Given the description of an element on the screen output the (x, y) to click on. 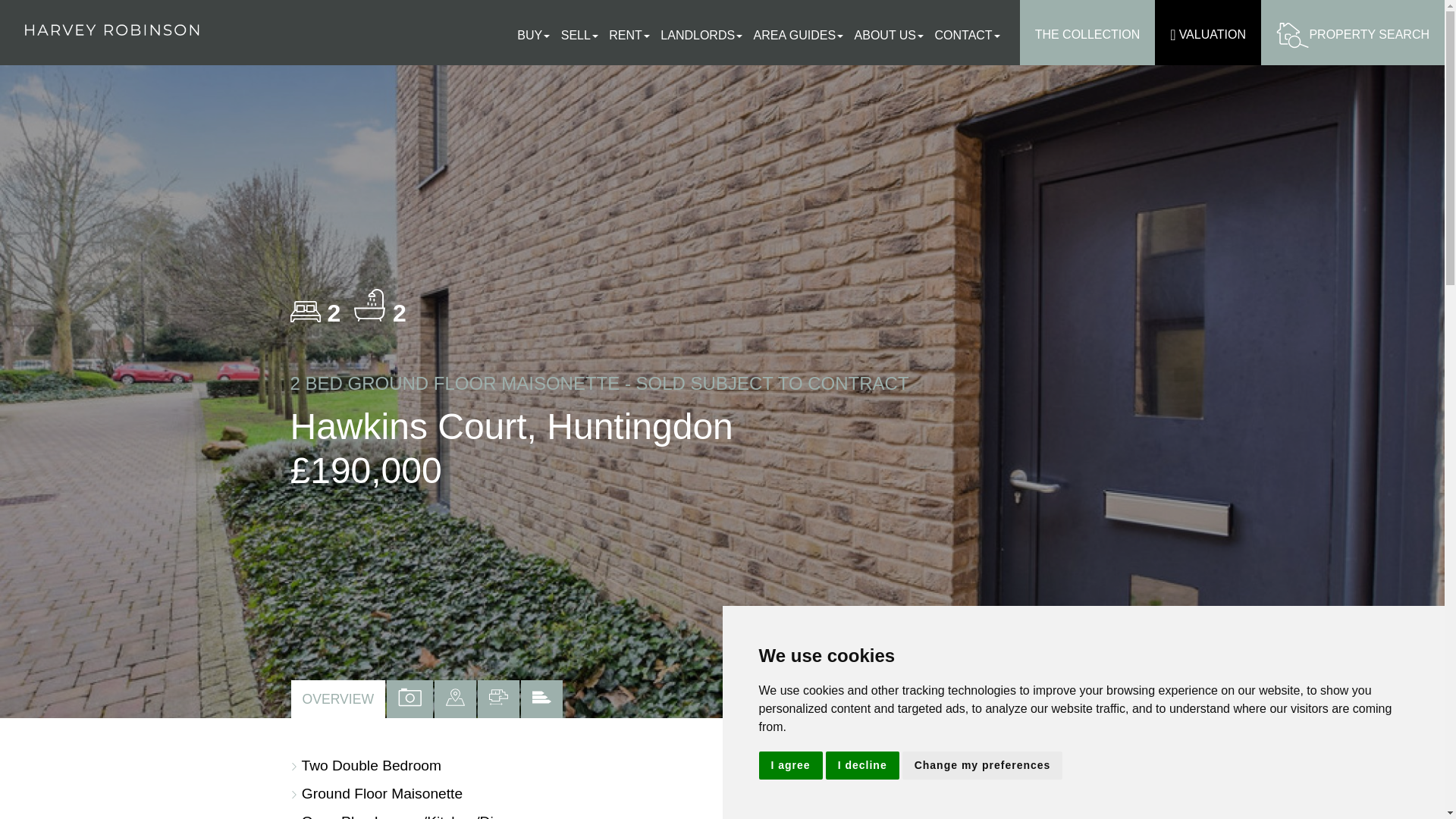
Overview (338, 699)
VALUATION (1207, 32)
Change my preferences (982, 765)
LANDLORDS (705, 34)
Hawkins Court, Huntingdon (1017, 798)
View Property Floorplan (498, 699)
Harvey Robinson (111, 29)
RENT (633, 34)
View Property on a Map (454, 699)
View Property Photos (409, 699)
THE COLLECTION (1088, 32)
Harvey Robinson (111, 30)
BUY (536, 34)
SELL (582, 34)
AREA GUIDES (802, 34)
